Given the description of an element on the screen output the (x, y) to click on. 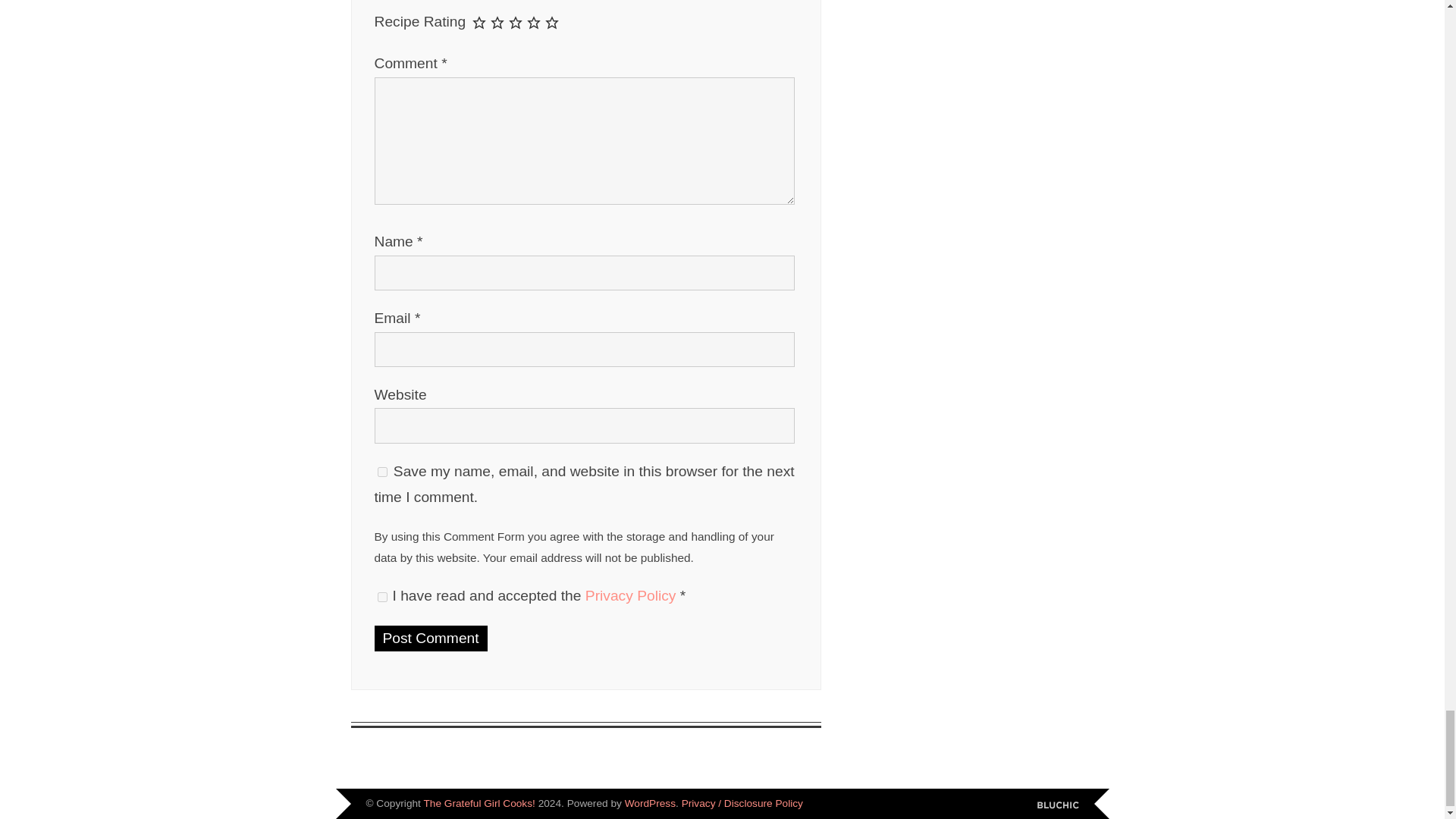
Post Comment (430, 638)
policy-key (382, 596)
yes (382, 471)
Theme designed by BluChic (1057, 805)
